Given the description of an element on the screen output the (x, y) to click on. 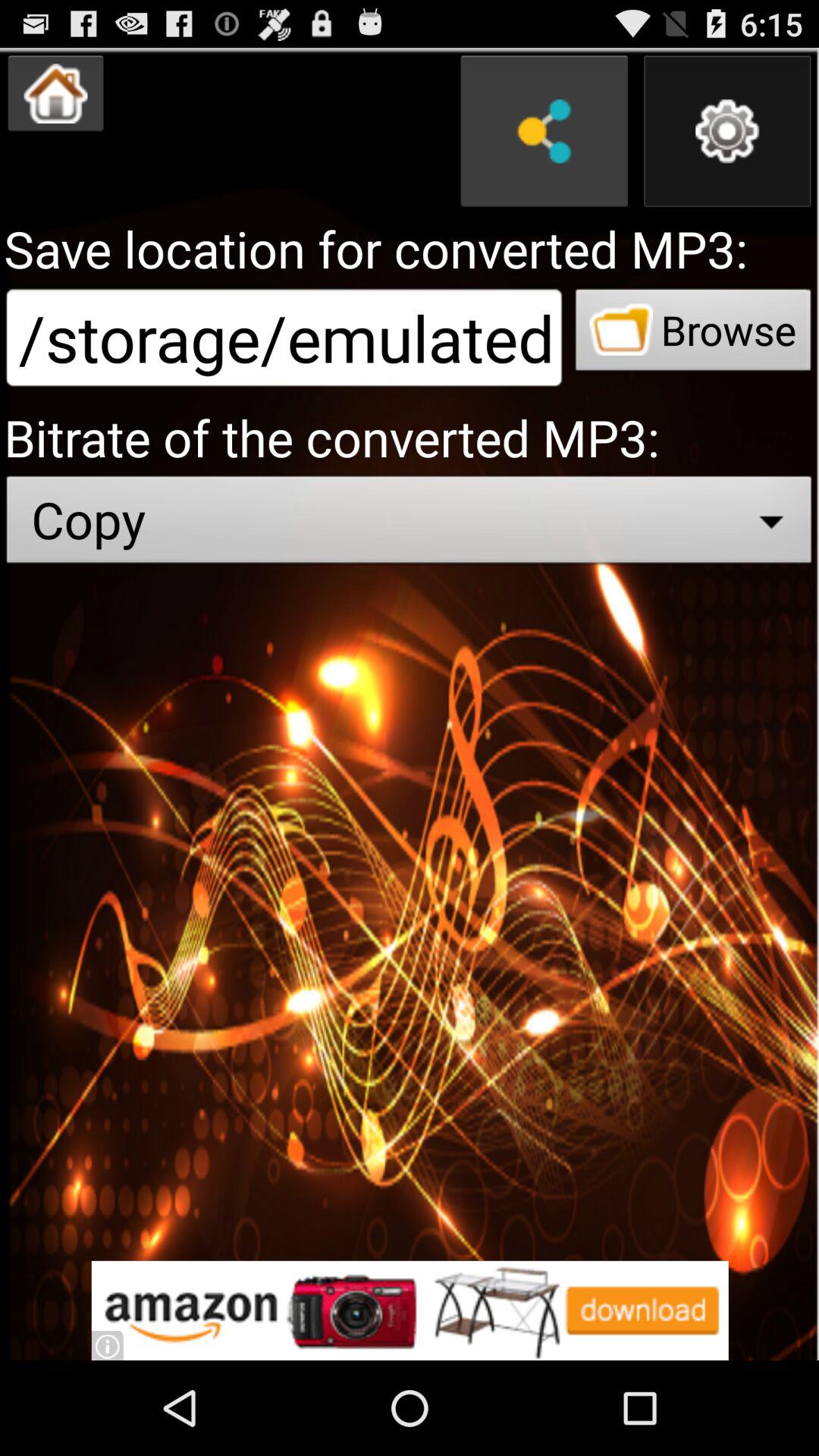
in app advertisement (409, 1310)
